Given the description of an element on the screen output the (x, y) to click on. 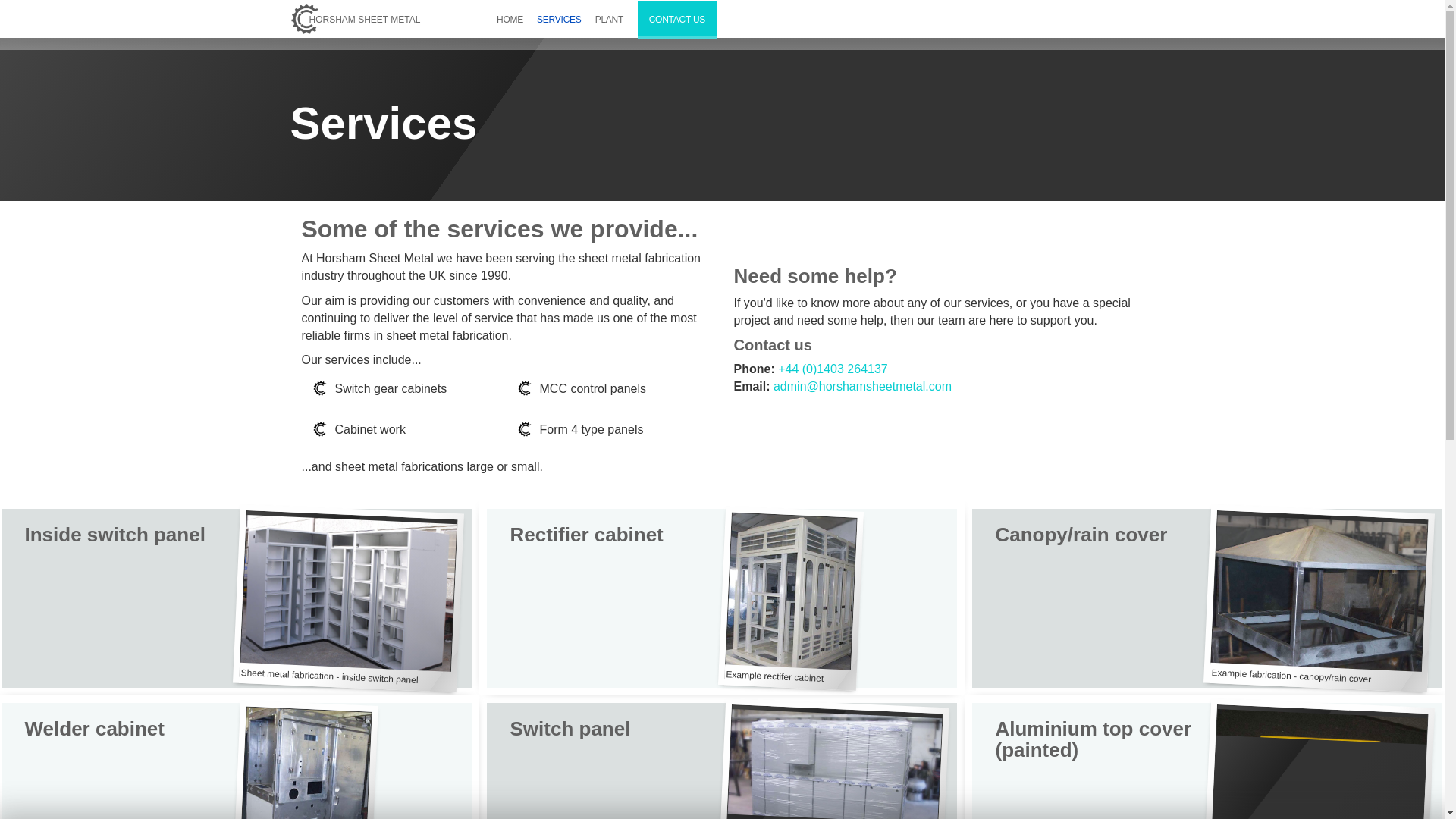
HOME (510, 18)
PLANT (608, 18)
HORSHAM SHEET METAL (359, 17)
SERVICES (558, 18)
Services and solutions from Horsham Sheet Metal (558, 18)
CONTACT US (676, 19)
Home (305, 19)
Contact us for capabilities, pricing or questions... (676, 19)
Home (359, 17)
